Given the description of an element on the screen output the (x, y) to click on. 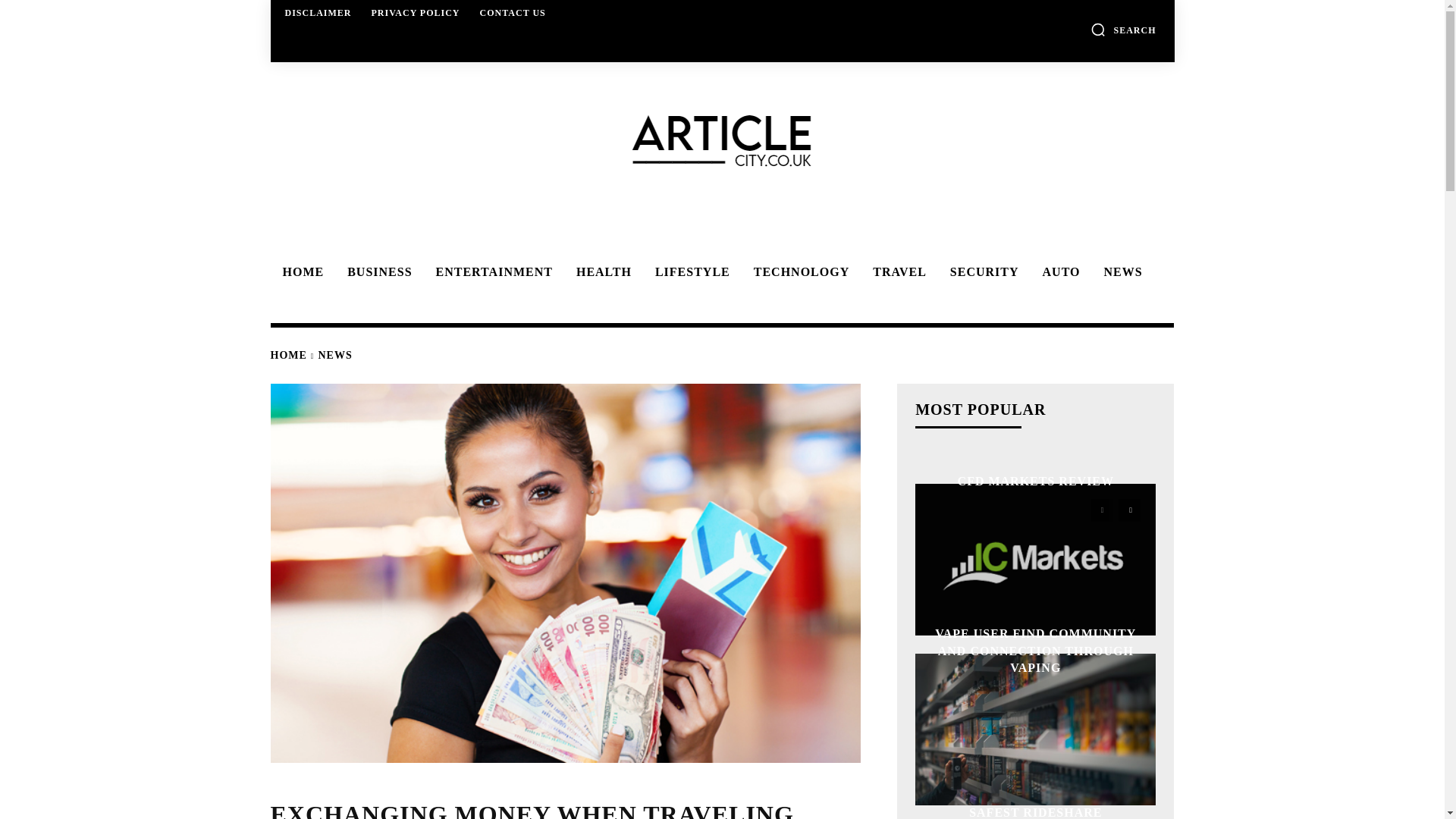
SECURITY (981, 271)
PRIVACY POLICY (415, 12)
HEALTH (601, 271)
BUSINESS (376, 271)
NEWS (1120, 271)
ENTERTAINMENT (491, 271)
View all posts in NEWS (335, 355)
LIFESTYLE (690, 271)
TECHNOLOGY (799, 271)
DISCLAIMER (318, 12)
CONTACT US (512, 12)
TRAVEL (897, 271)
HOME (300, 271)
AUTO (1058, 271)
SEARCH (1123, 29)
